Given the description of an element on the screen output the (x, y) to click on. 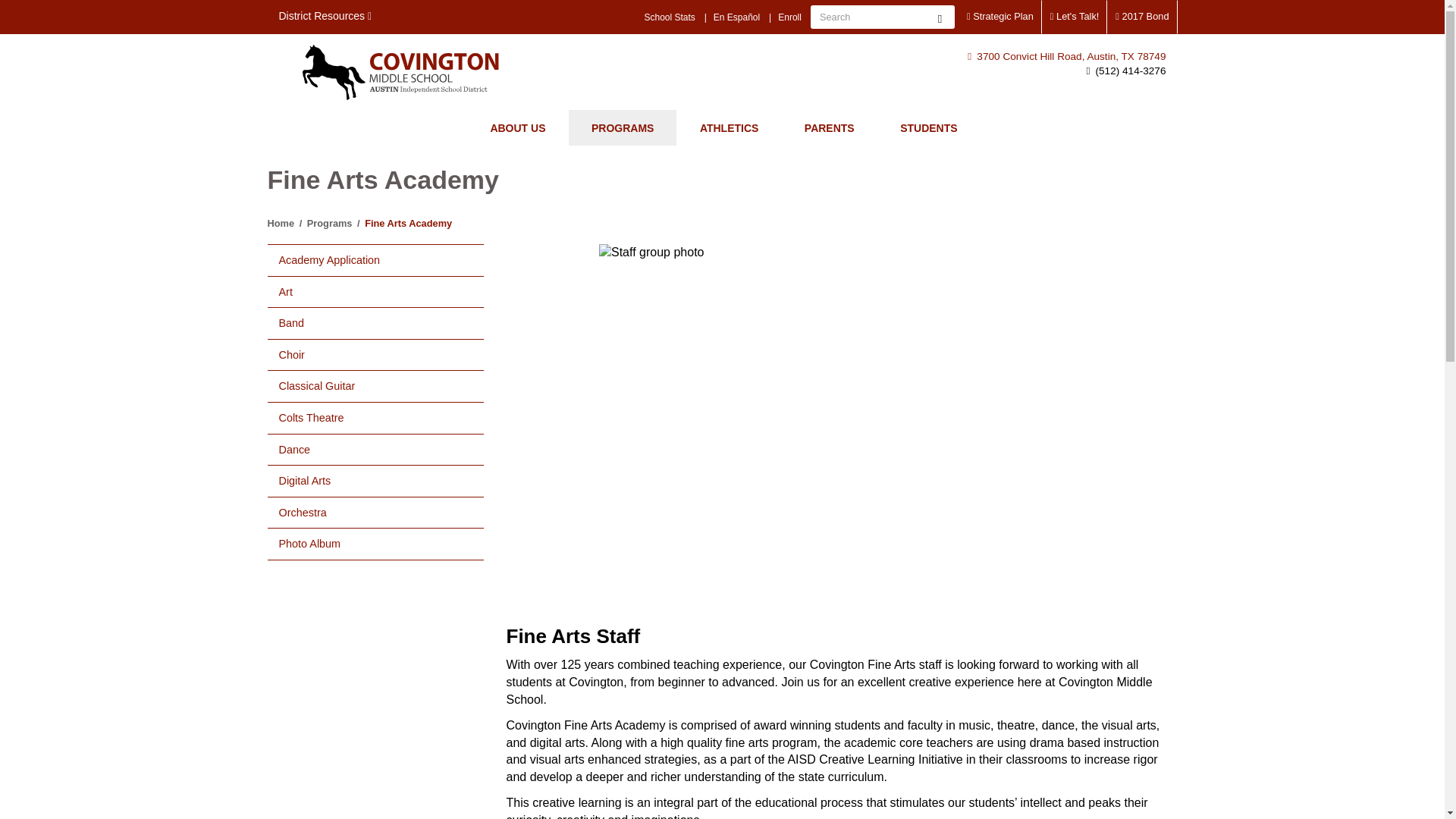
  3700 Convict Hill Road, Austin, TX 78749 (1067, 56)
Search (939, 16)
Home (400, 72)
Covington Middle School (400, 72)
School Stats (668, 17)
Enroll (789, 17)
PROGRAMS (623, 127)
District Resources (324, 17)
ABOUT US (517, 127)
